Given the description of an element on the screen output the (x, y) to click on. 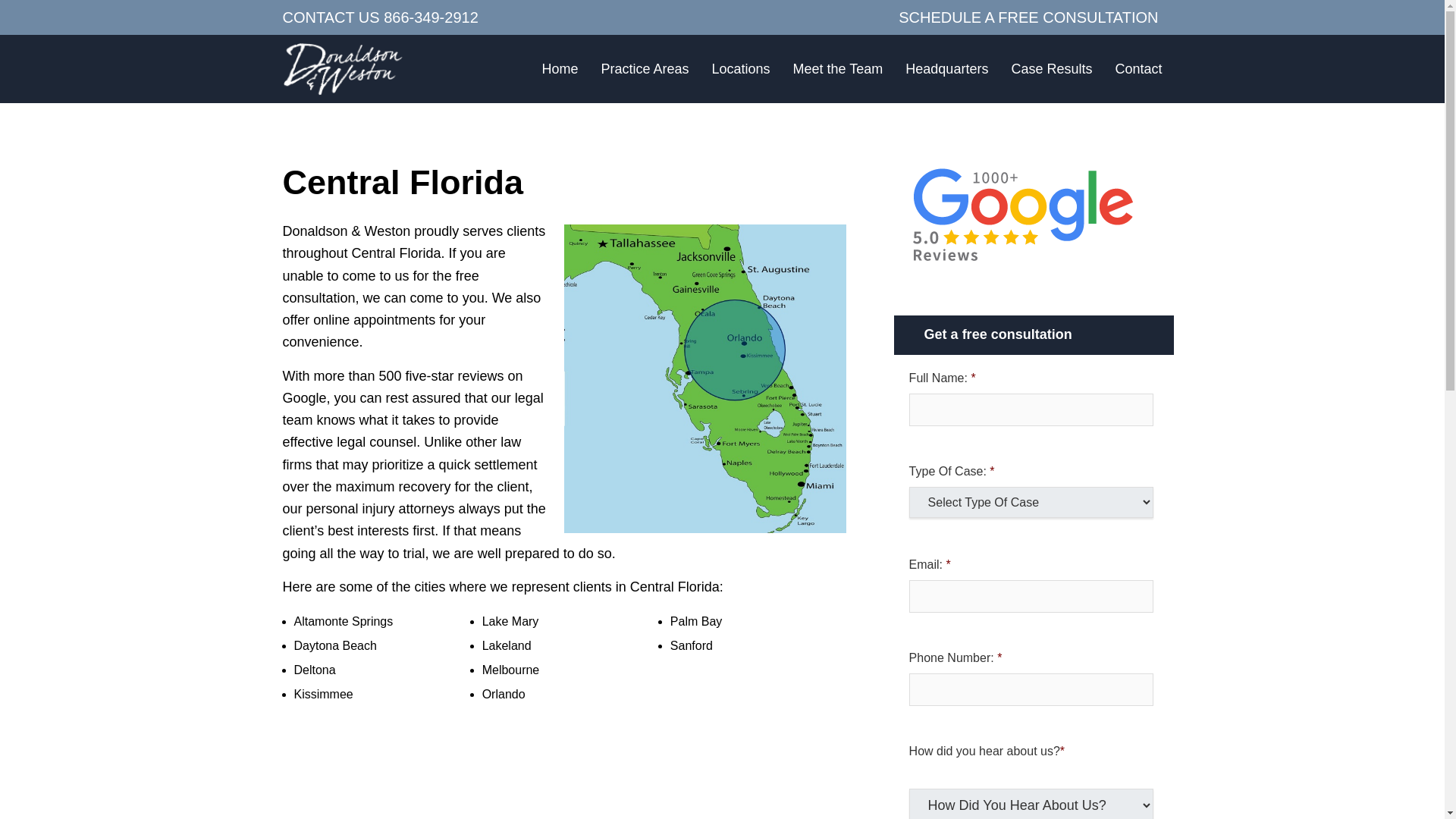
Home (559, 67)
SCHEDULE A FREE CONSULTATION (1027, 17)
Locations (740, 67)
Central Florida (342, 68)
Meet the Team (838, 67)
Headquarters (946, 67)
866-349-2912 (431, 17)
Practice Areas (643, 68)
866-349-2912 (431, 17)
